Given the description of an element on the screen output the (x, y) to click on. 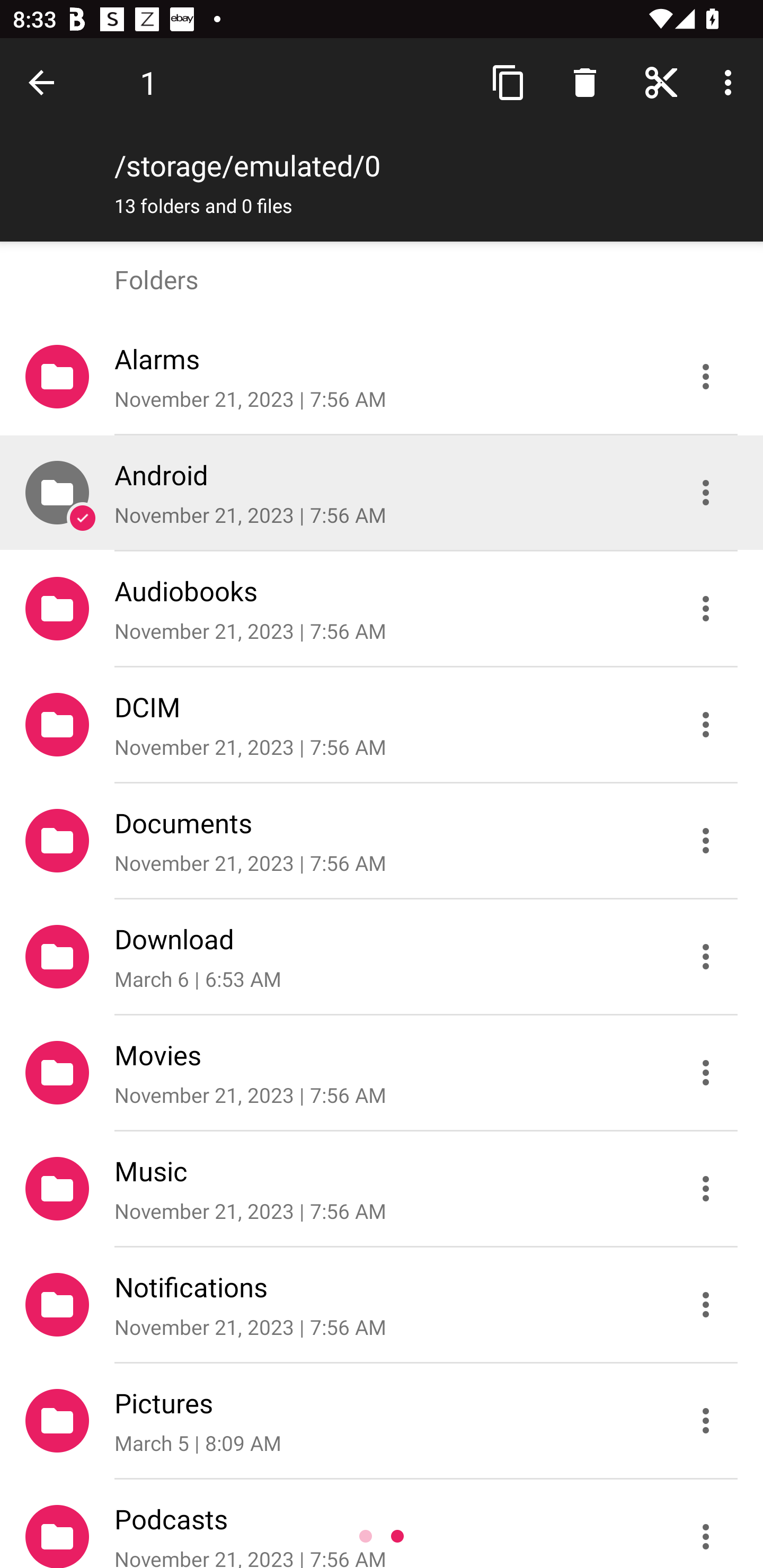
1 (148, 82)
Done (44, 81)
PASTE (554, 81)
Delete (585, 81)
Search (661, 81)
More options (731, 81)
Alarms November 21, 2023 | 7:56 AM (381, 376)
Android November 21, 2023 | 7:56 AM (381, 492)
Audiobooks November 21, 2023 | 7:56 AM (381, 608)
DCIM November 21, 2023 | 7:56 AM (381, 724)
Documents November 21, 2023 | 7:56 AM (381, 841)
Download March 6 | 6:53 AM (381, 957)
Movies November 21, 2023 | 7:56 AM (381, 1073)
Music November 21, 2023 | 7:56 AM (381, 1189)
Notifications November 21, 2023 | 7:56 AM (381, 1305)
Pictures March 5 | 8:09 AM (381, 1421)
Podcasts November 21, 2023 | 7:56 AM (381, 1524)
